Given the description of an element on the screen output the (x, y) to click on. 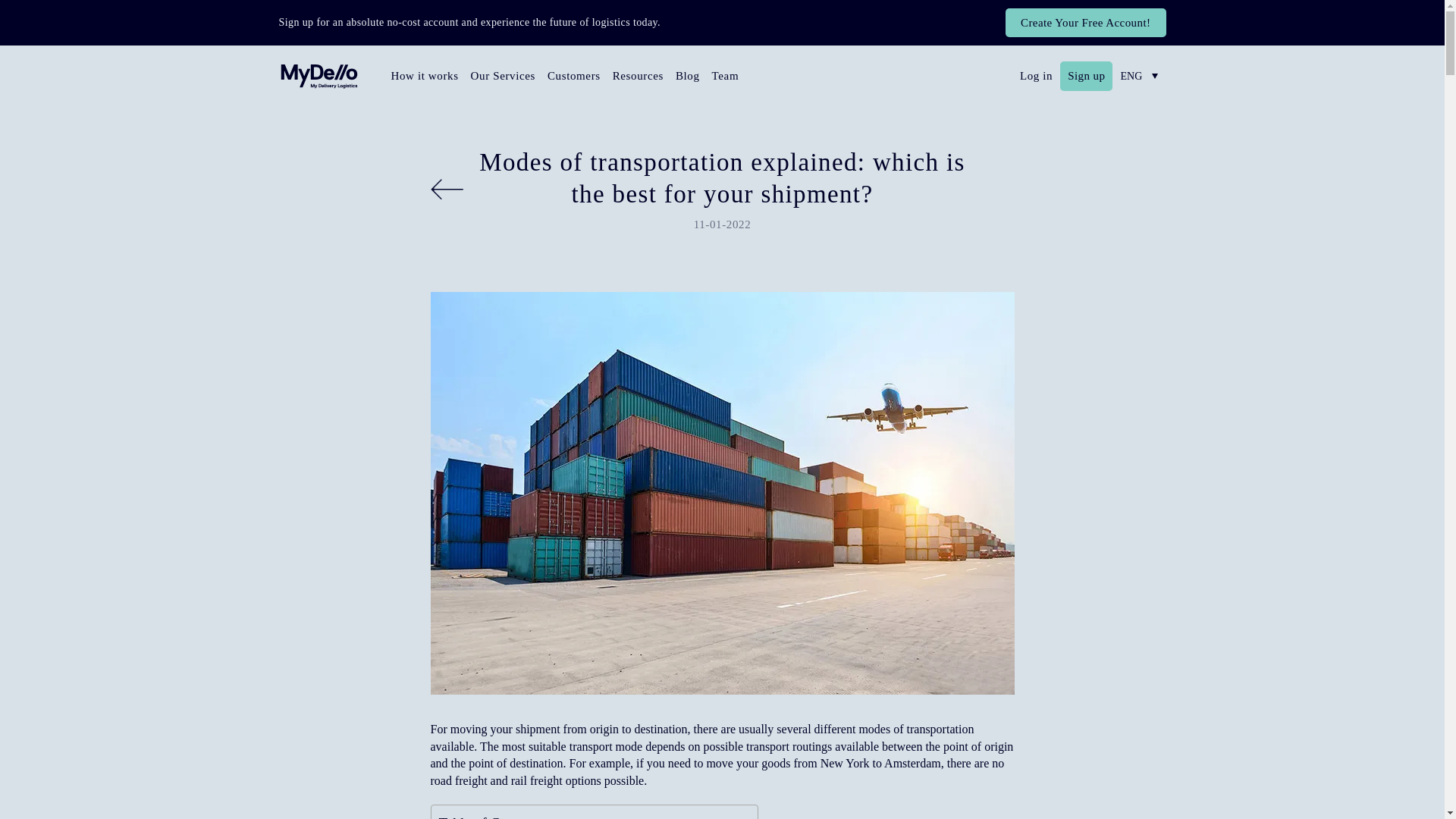
Customers (574, 77)
Blog (687, 77)
How it works (424, 77)
Log in (1035, 75)
Resources (638, 77)
Team (725, 77)
ENG (1139, 76)
Create Your Free Account! (1086, 22)
Sign up (1085, 75)
Our Services (502, 77)
